Given the description of an element on the screen output the (x, y) to click on. 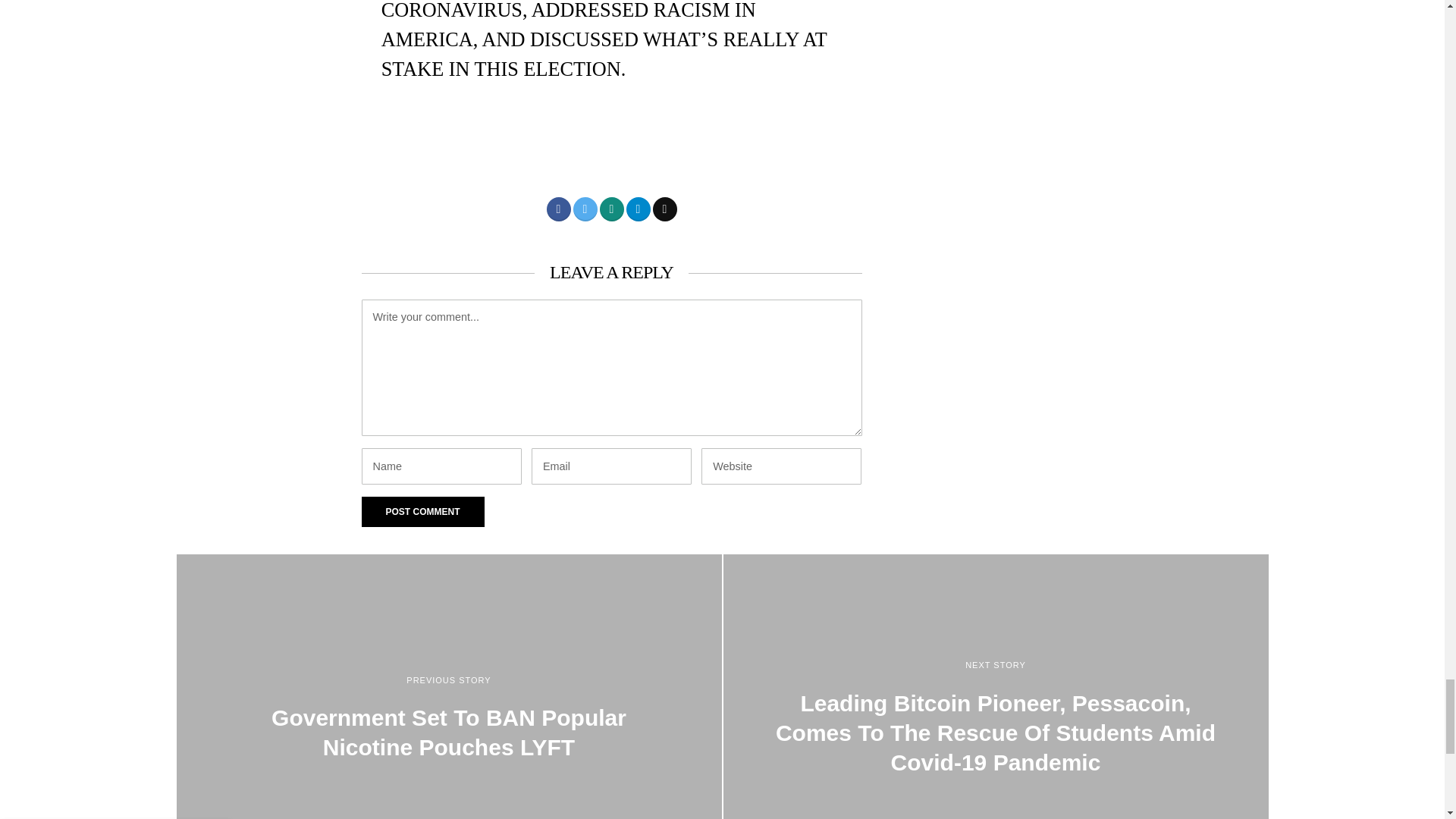
Post Comment (422, 511)
